Given the description of an element on the screen output the (x, y) to click on. 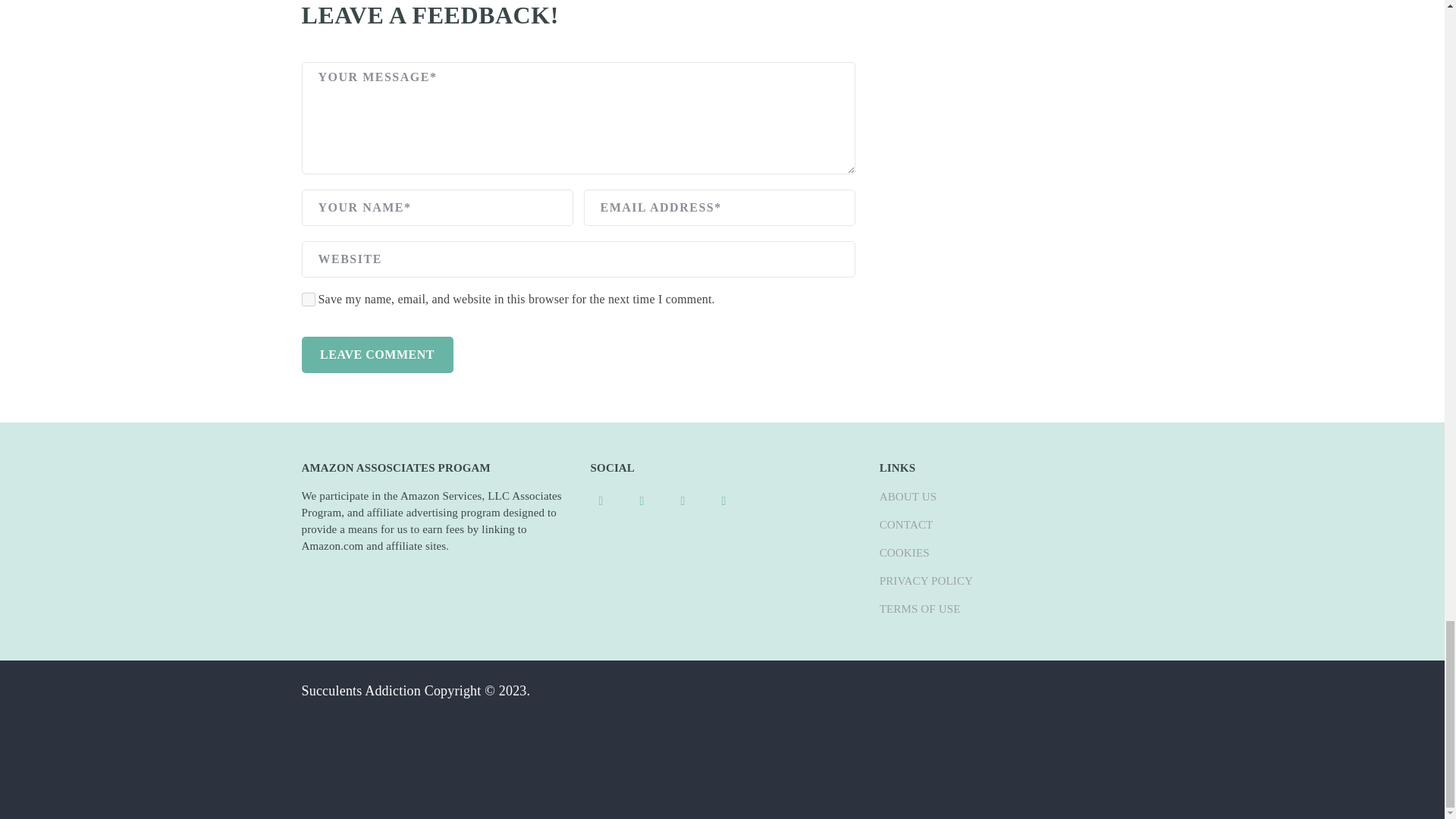
COOKIES (904, 552)
Leave Comment (376, 354)
Pinterest (641, 499)
yes (308, 299)
ABOUT US (908, 496)
Facebook (601, 499)
Leave Comment (376, 354)
CONTACT (906, 524)
Instagram (683, 499)
